Given the description of an element on the screen output the (x, y) to click on. 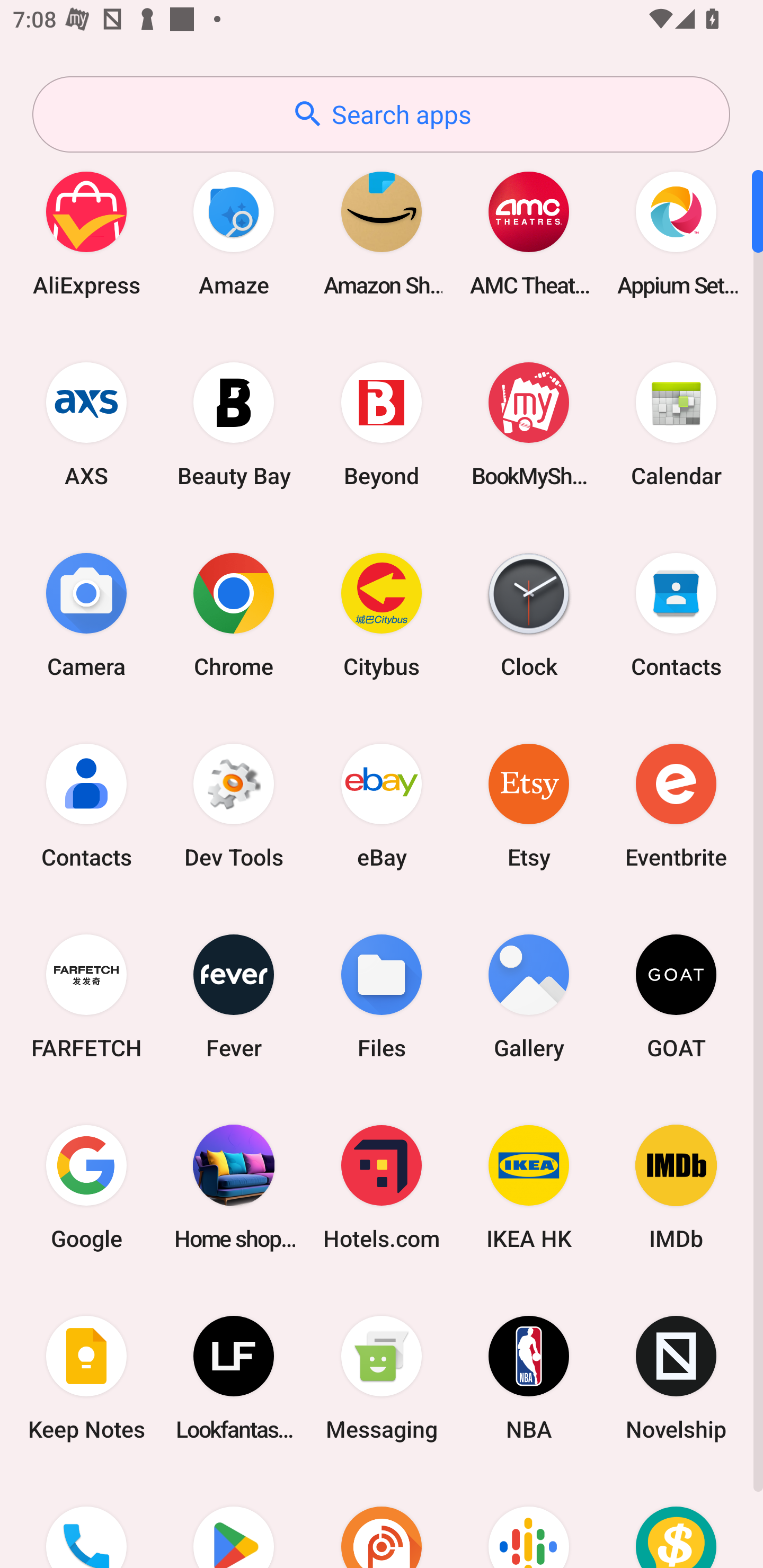
  Search apps (381, 114)
AliExpress (86, 233)
Amaze (233, 233)
Amazon Shopping (381, 233)
AMC Theatres (528, 233)
Appium Settings (676, 233)
AXS (86, 424)
Beauty Bay (233, 424)
Beyond (381, 424)
BookMyShow (528, 424)
Calendar (676, 424)
Camera (86, 614)
Chrome (233, 614)
Citybus (381, 614)
Clock (528, 614)
Contacts (676, 614)
Contacts (86, 805)
Dev Tools (233, 805)
eBay (381, 805)
Etsy (528, 805)
Eventbrite (676, 805)
FARFETCH (86, 996)
Fever (233, 996)
Files (381, 996)
Gallery (528, 996)
GOAT (676, 996)
Google (86, 1186)
Home shopping (233, 1186)
Hotels.com (381, 1186)
IKEA HK (528, 1186)
IMDb (676, 1186)
Keep Notes (86, 1377)
Lookfantastic (233, 1377)
Messaging (381, 1377)
NBA (528, 1377)
Novelship (676, 1377)
Phone (86, 1520)
Play Store (233, 1520)
Podcast Addict (381, 1520)
Podcasts (528, 1520)
Price (676, 1520)
